Given the description of an element on the screen output the (x, y) to click on. 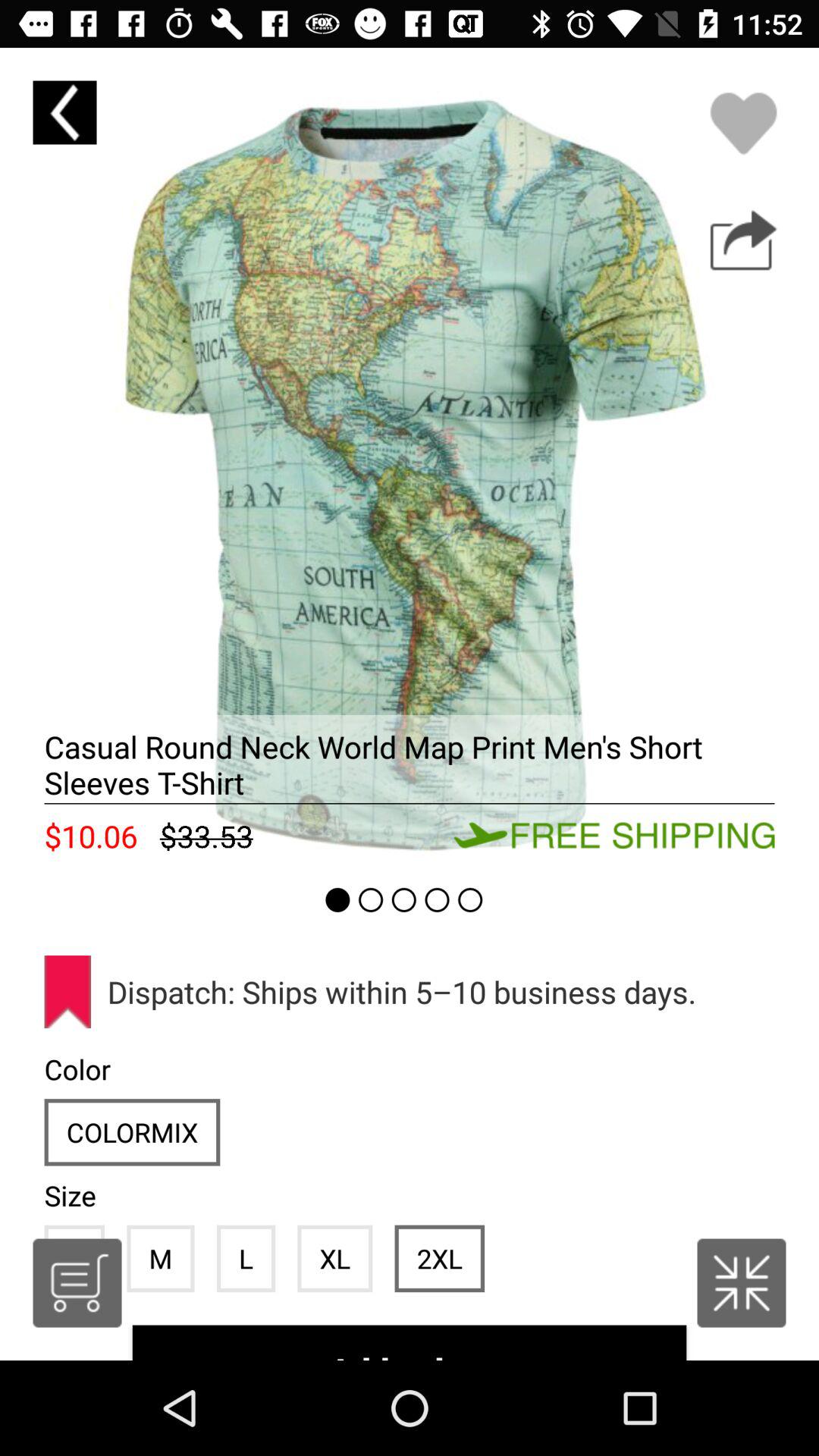
open icon next to the xl item (439, 1258)
